Given the description of an element on the screen output the (x, y) to click on. 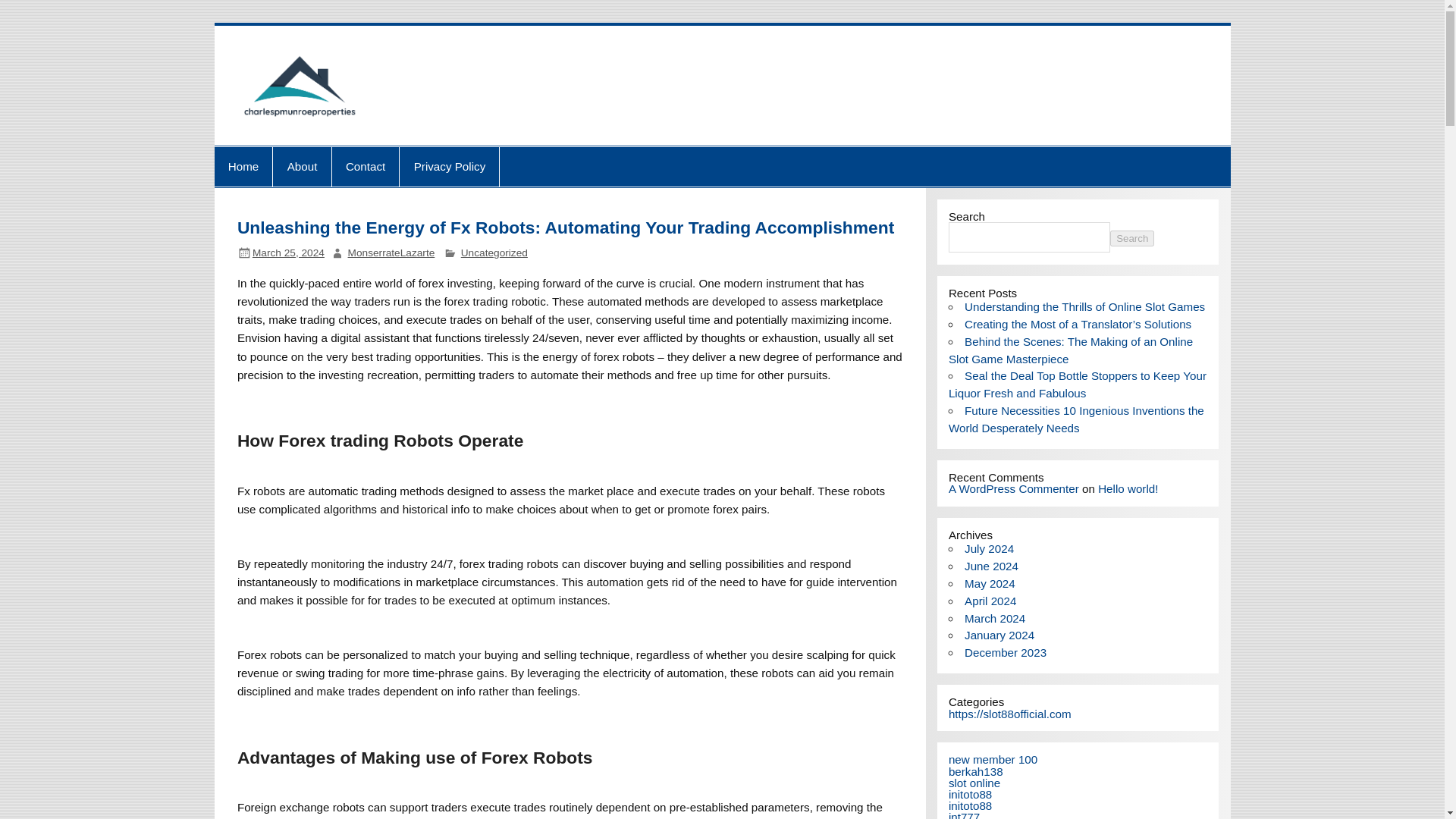
Home (243, 166)
Uncategorized (494, 252)
charlespmunroeproperties (556, 69)
Contact (364, 166)
Hello world! (1127, 488)
December 2023 (1004, 652)
June 2024 (990, 565)
July 2024 (988, 548)
May 2024 (988, 583)
Understanding the Thrills of Online Slot Games (1084, 306)
March 2024 (994, 617)
April 2024 (989, 600)
About (301, 166)
berkah138 (976, 771)
